Given the description of an element on the screen output the (x, y) to click on. 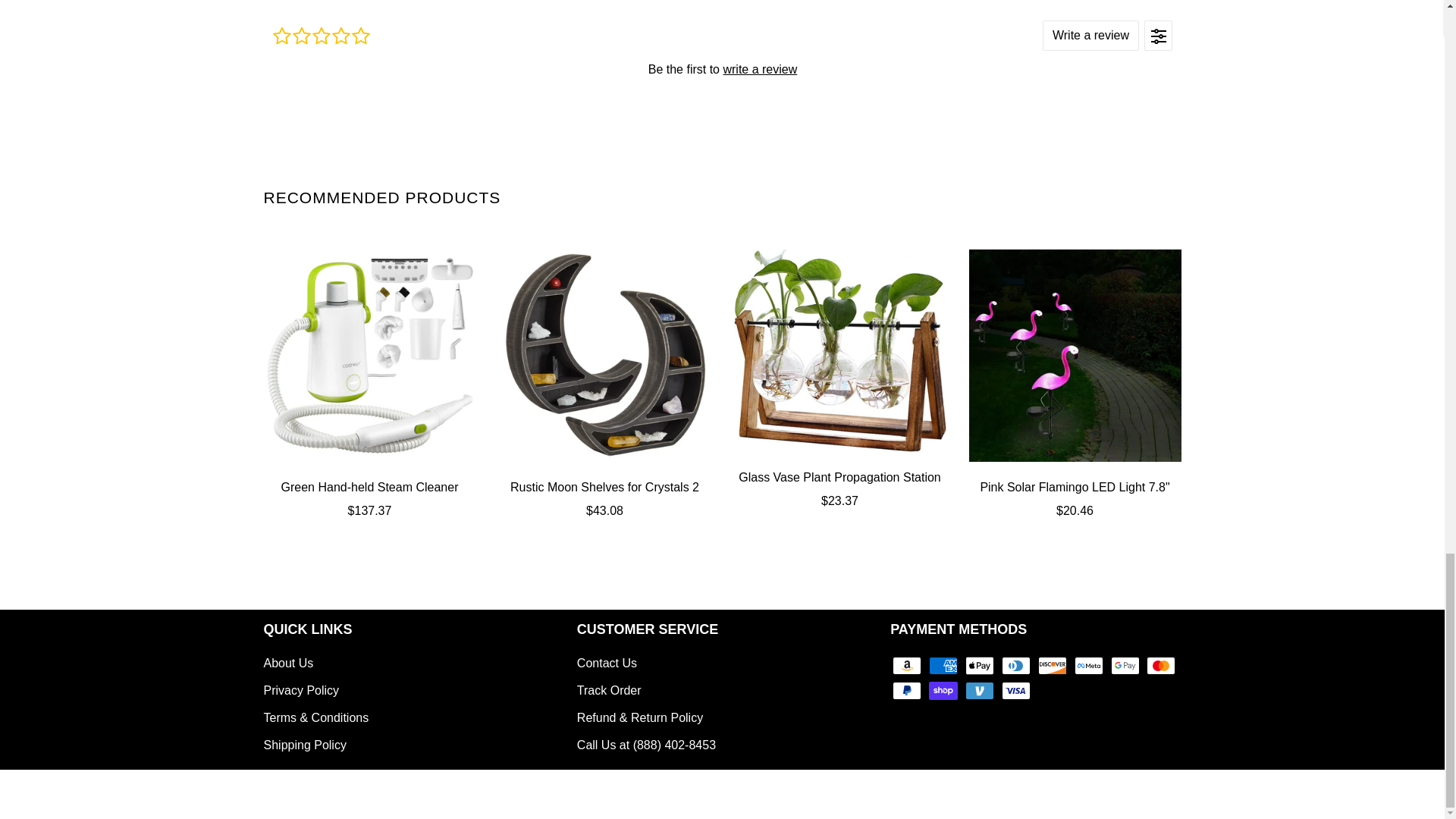
Green Hand-held Steam Cleaner 1000W with 10 Accessories (369, 498)
Rustic Moon Shelves for Crystals 2 Pack Wooden Display (605, 355)
Green Hand-held Steam Cleaner 1000W with 10 Accessories (369, 355)
Rustic Moon Shelves for Crystals 2 Pack Wooden Display (605, 498)
Product reviews widget (721, 67)
Pink Solar Flamingo LED Light 7.8" Outdoor Garden Decoration (1074, 498)
Glass Vase Plant Propagation Station Home and Office Decor (839, 488)
Glass Vase Plant Propagation Station Home and Office Decor (839, 350)
